Given the description of an element on the screen output the (x, y) to click on. 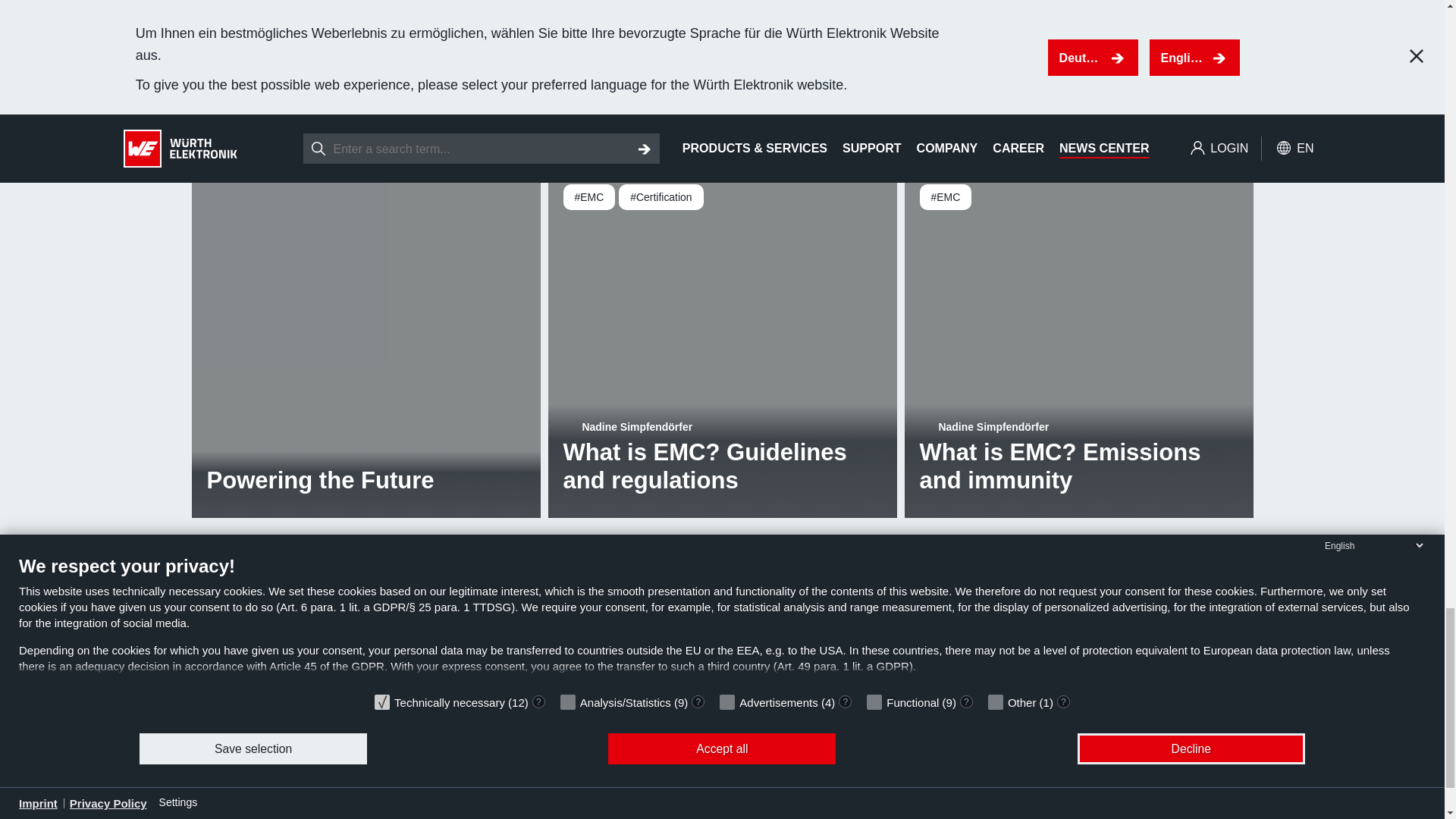
Components (228, 717)
Powering the Future (365, 342)
